Given the description of an element on the screen output the (x, y) to click on. 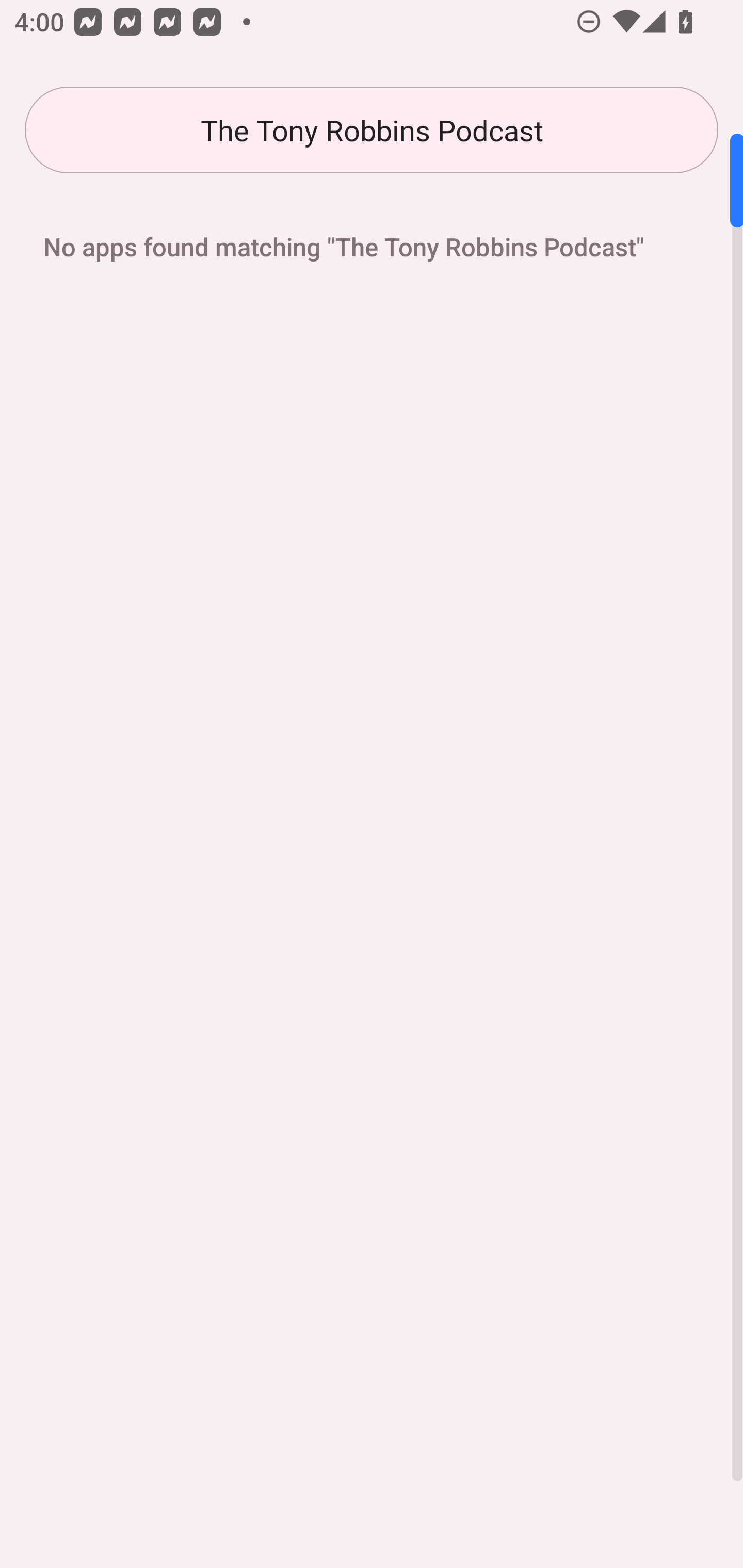
The Tony Robbins Podcast (371, 130)
